Given the description of an element on the screen output the (x, y) to click on. 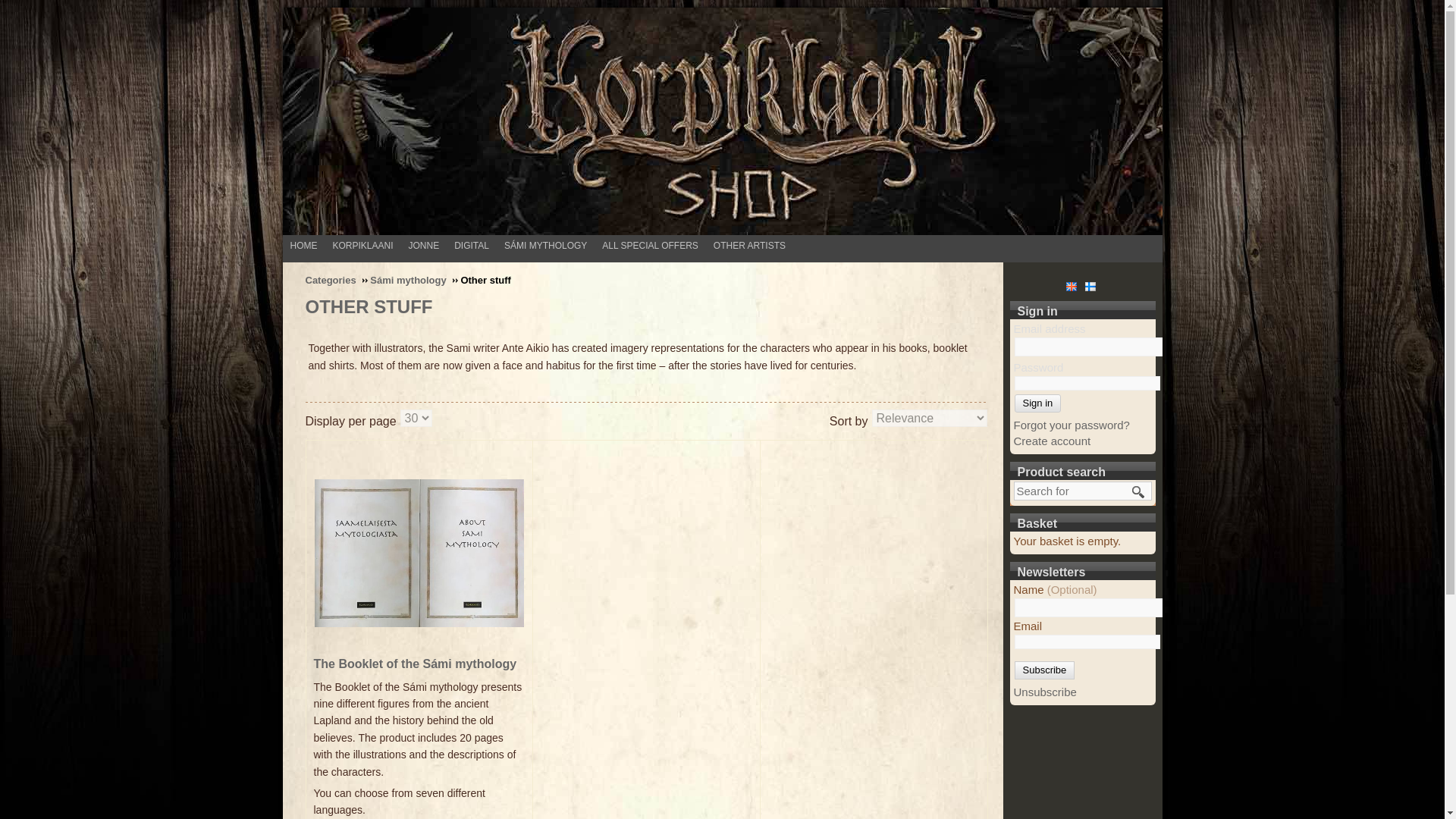
Start search (1138, 491)
DIGITAL (475, 244)
KORPIKLAANI (365, 244)
Go to product (418, 552)
JONNE (427, 244)
HOME (306, 244)
